Given the description of an element on the screen output the (x, y) to click on. 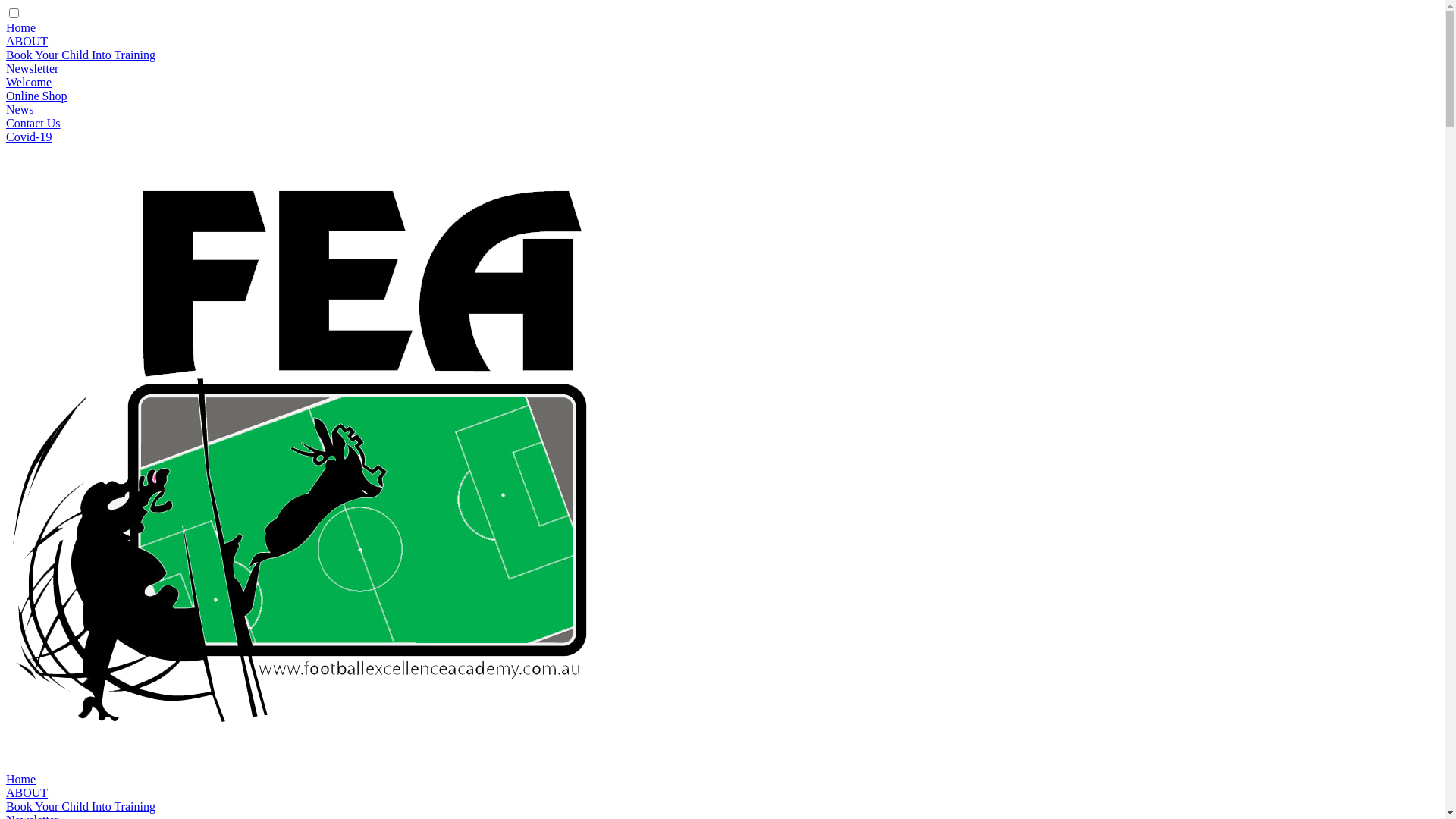
Home Element type: text (20, 27)
Newsletter Element type: text (32, 68)
Online Shop Element type: text (36, 95)
Book Your Child Into Training Element type: text (80, 54)
Welcome Element type: text (28, 81)
News Element type: text (19, 109)
ABOUT Element type: text (26, 792)
Home Element type: text (20, 778)
Contact Us Element type: text (33, 122)
Covid-19 Element type: text (28, 136)
ABOUT Element type: text (26, 40)
Book Your Child Into Training Element type: text (80, 806)
